Given the description of an element on the screen output the (x, y) to click on. 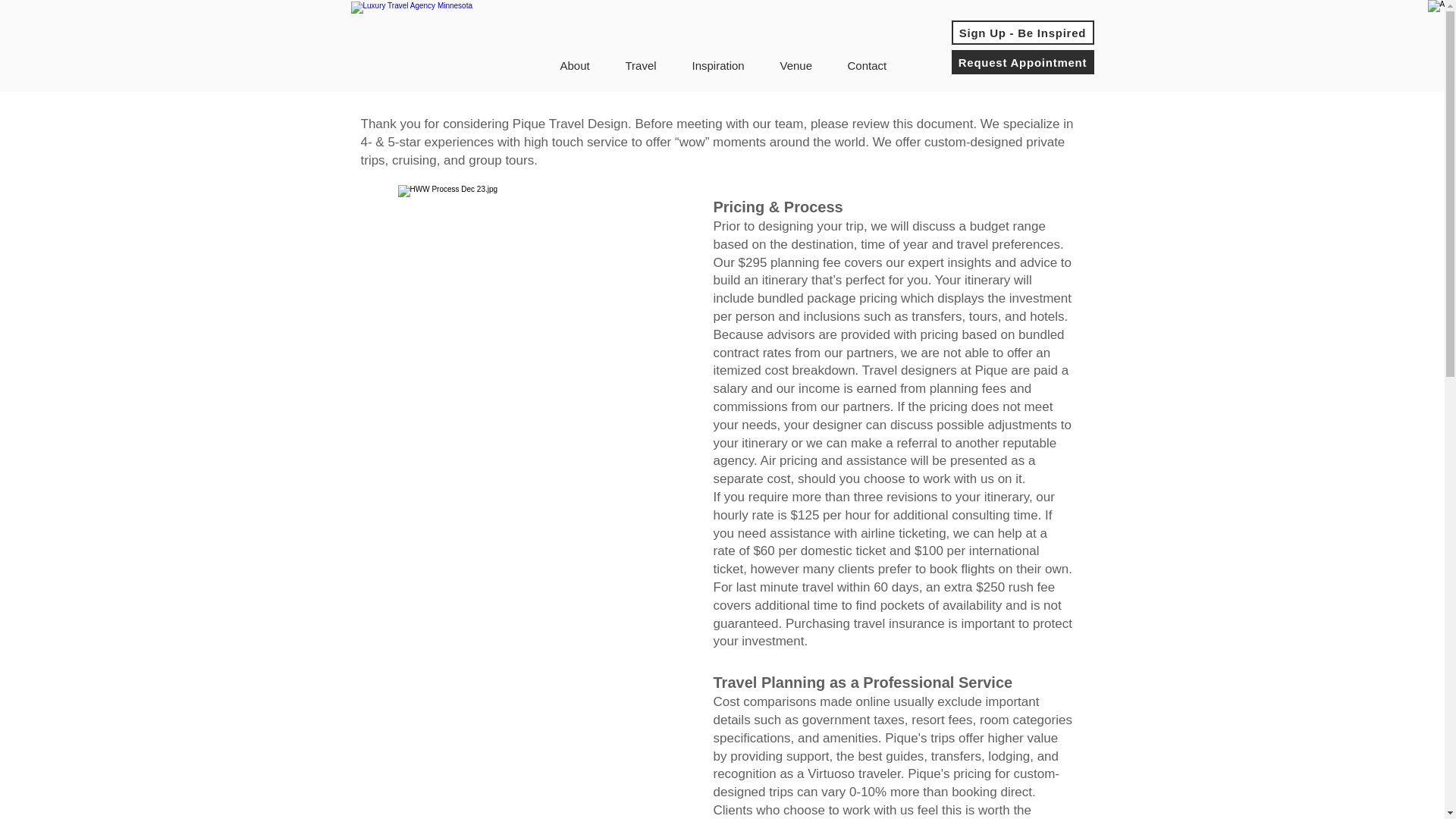
Sign Up - Be Inspired (1021, 32)
Request Appointment (1021, 61)
Venue (801, 65)
